Given the description of an element on the screen output the (x, y) to click on. 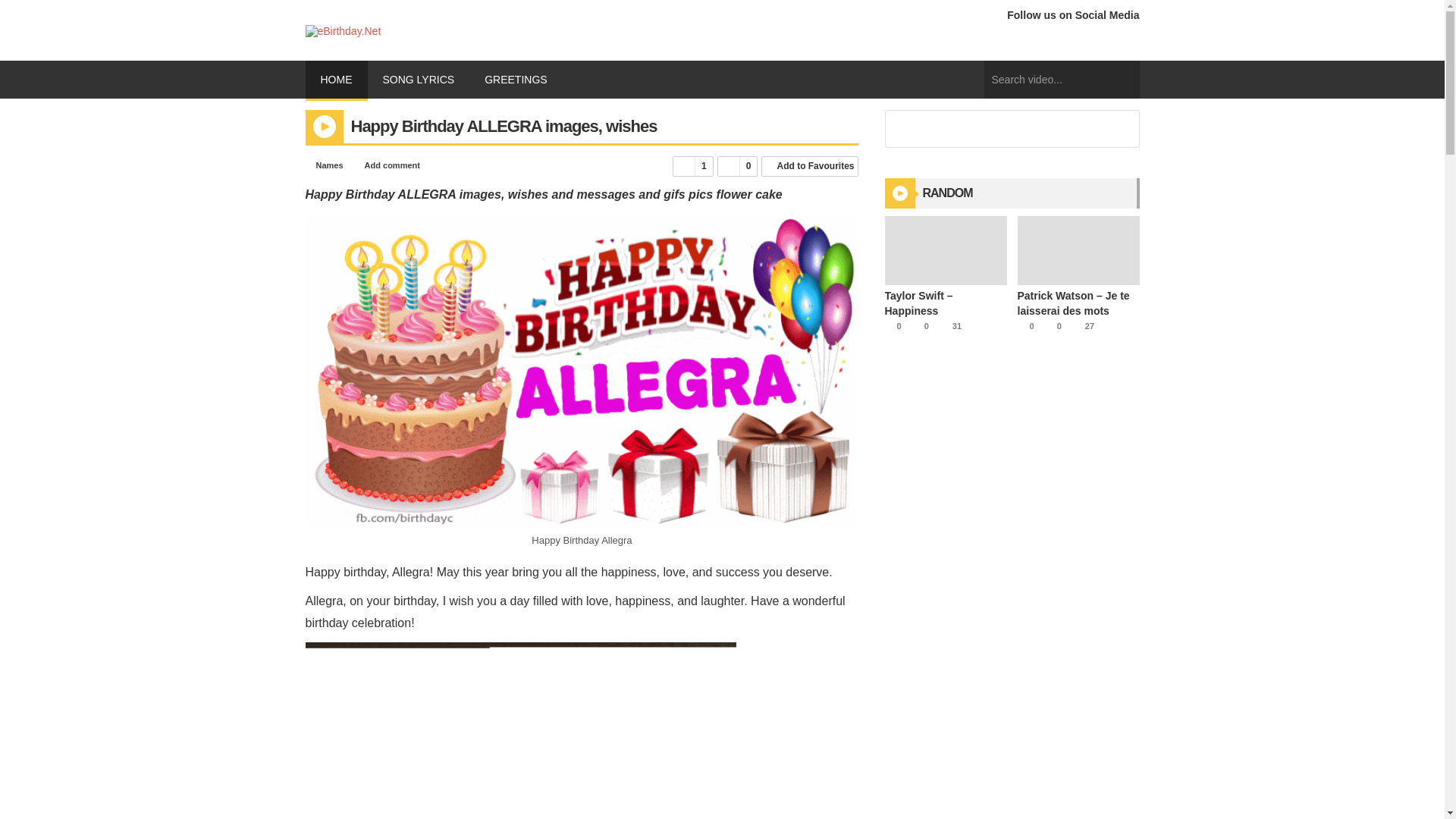
SEARCH (1123, 79)
SONG LYRICS (417, 79)
Dislike (737, 166)
Search video... (1062, 79)
Facebook (1018, 40)
Search (1123, 130)
Youtube (1047, 40)
HOME (335, 80)
SEARCH (1123, 79)
GREETINGS (520, 79)
